Given the description of an element on the screen output the (x, y) to click on. 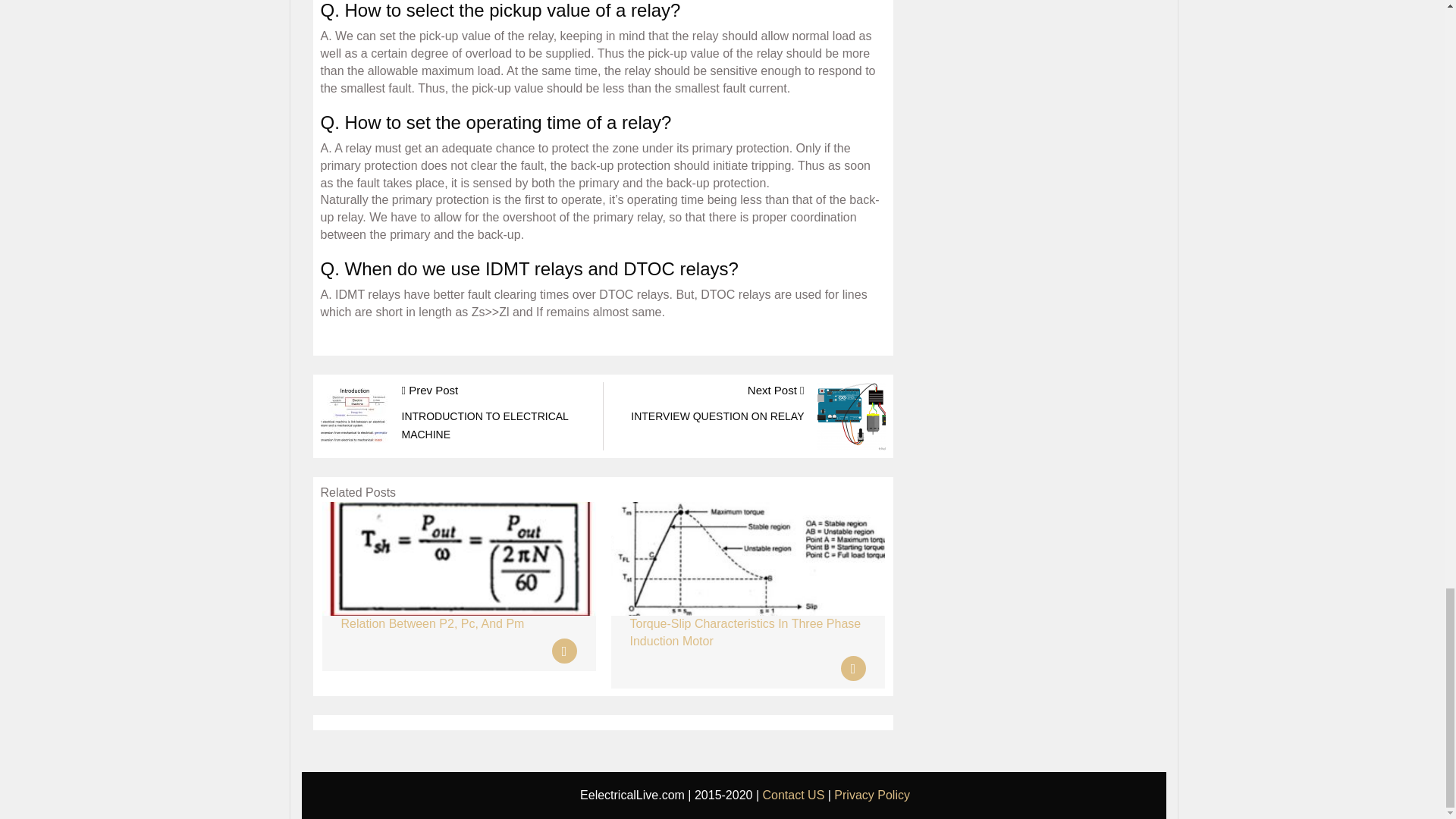
Relation Between P2, Pc, And Pm (716, 403)
Torque-Slip Characteristics In Three Phase Induction Motor (432, 623)
